Given the description of an element on the screen output the (x, y) to click on. 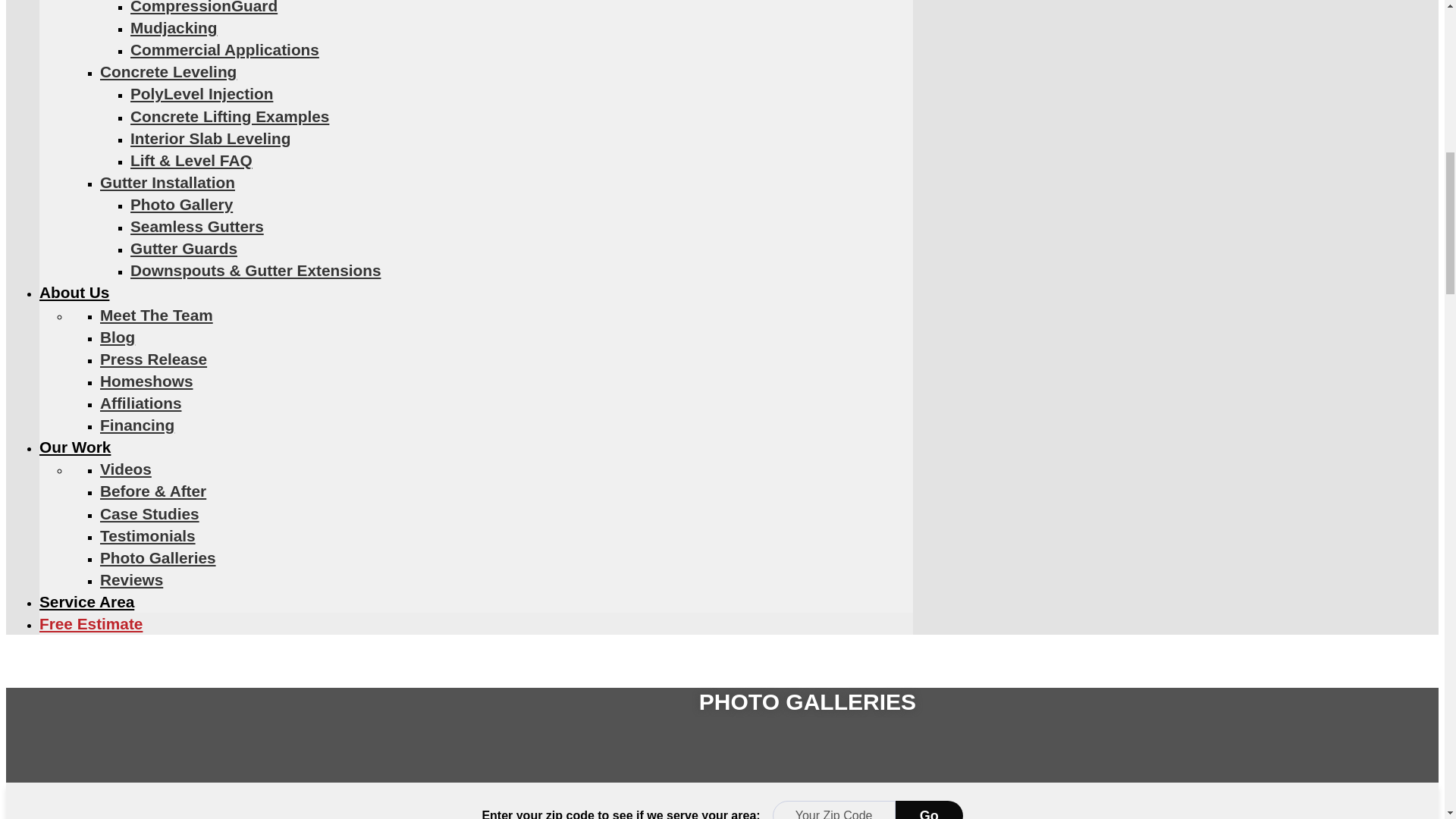
CompressionGuard (204, 7)
Commercial Applications (224, 49)
PolyLevel Injection (202, 93)
Mudjacking (173, 27)
Go (928, 809)
Concrete Leveling (167, 71)
Please enter a valid ZIP code (834, 809)
